Given the description of an element on the screen output the (x, y) to click on. 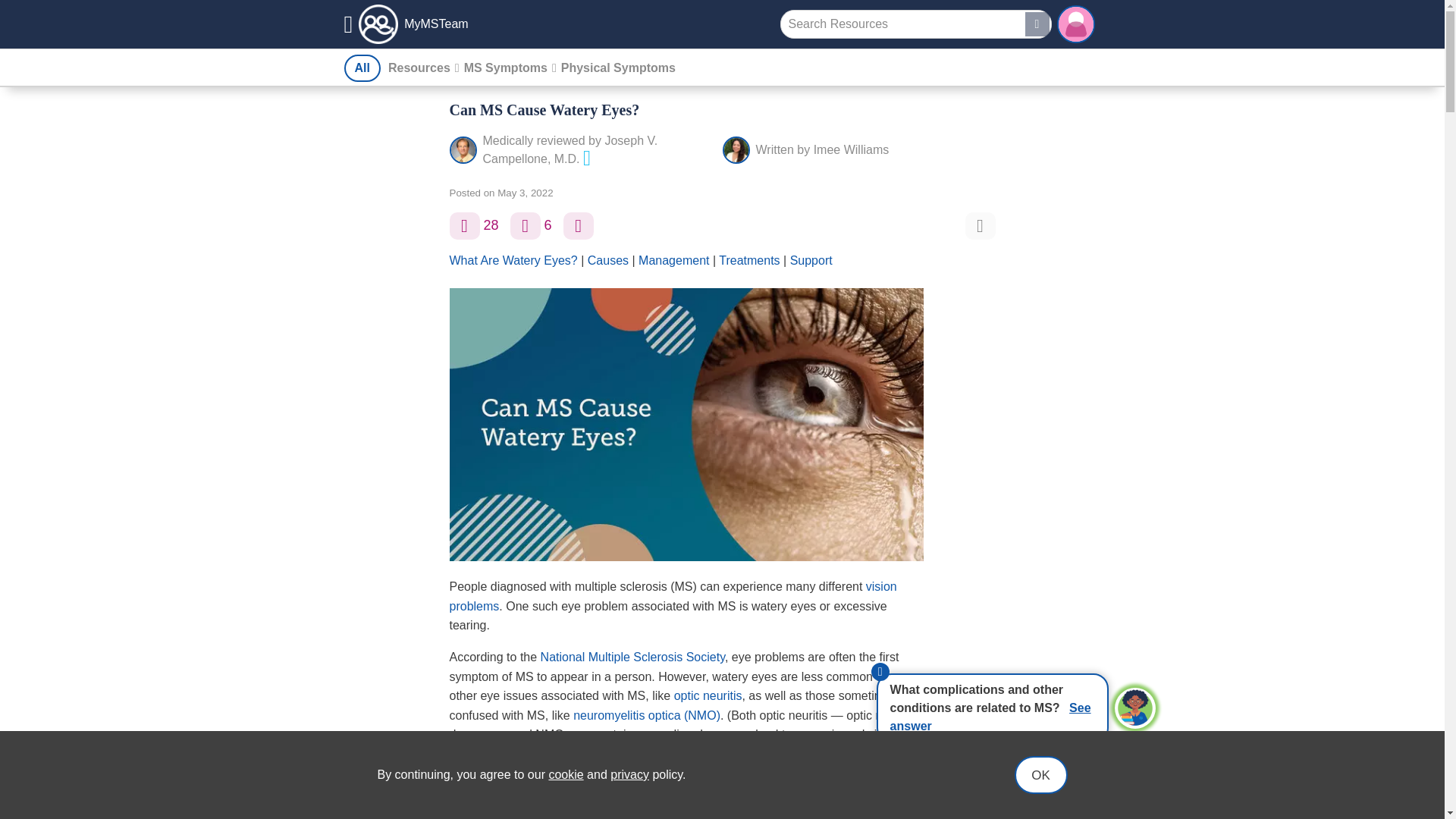
Resources (419, 67)
OK (1040, 774)
MyMSTeam (405, 23)
Joseph V. Campellone, M.D. (569, 149)
cookie (565, 774)
Physical Symptoms (617, 67)
Imee Williams (851, 149)
OK (1040, 774)
I like this (463, 225)
MS Symptoms (505, 67)
Add a comment (525, 225)
Ask a question (578, 225)
privacy (629, 774)
All (361, 67)
